Given the description of an element on the screen output the (x, y) to click on. 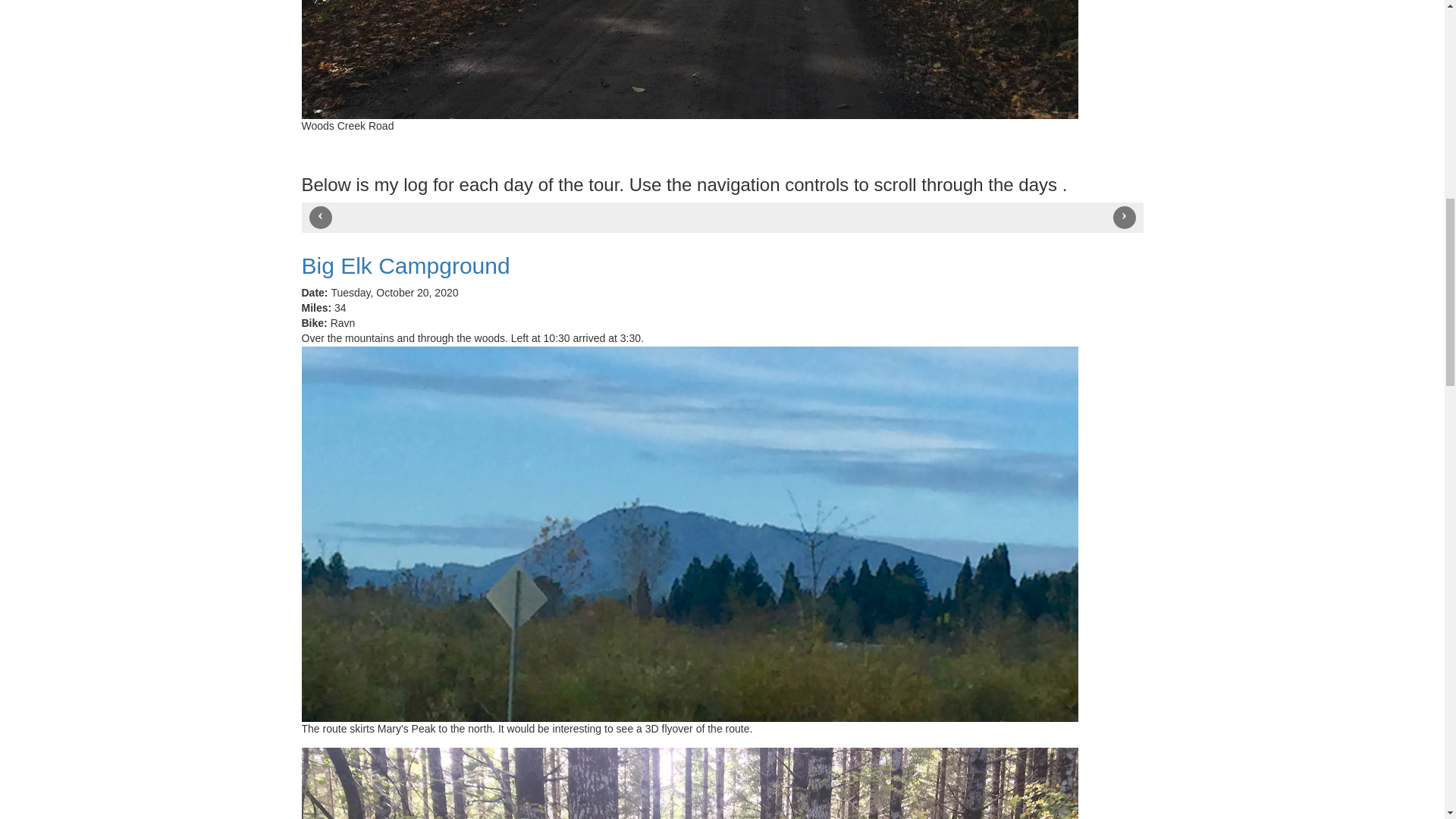
Woods Creek Road (689, 59)
Bikepacking on the C2C Trail (689, 783)
